Given the description of an element on the screen output the (x, y) to click on. 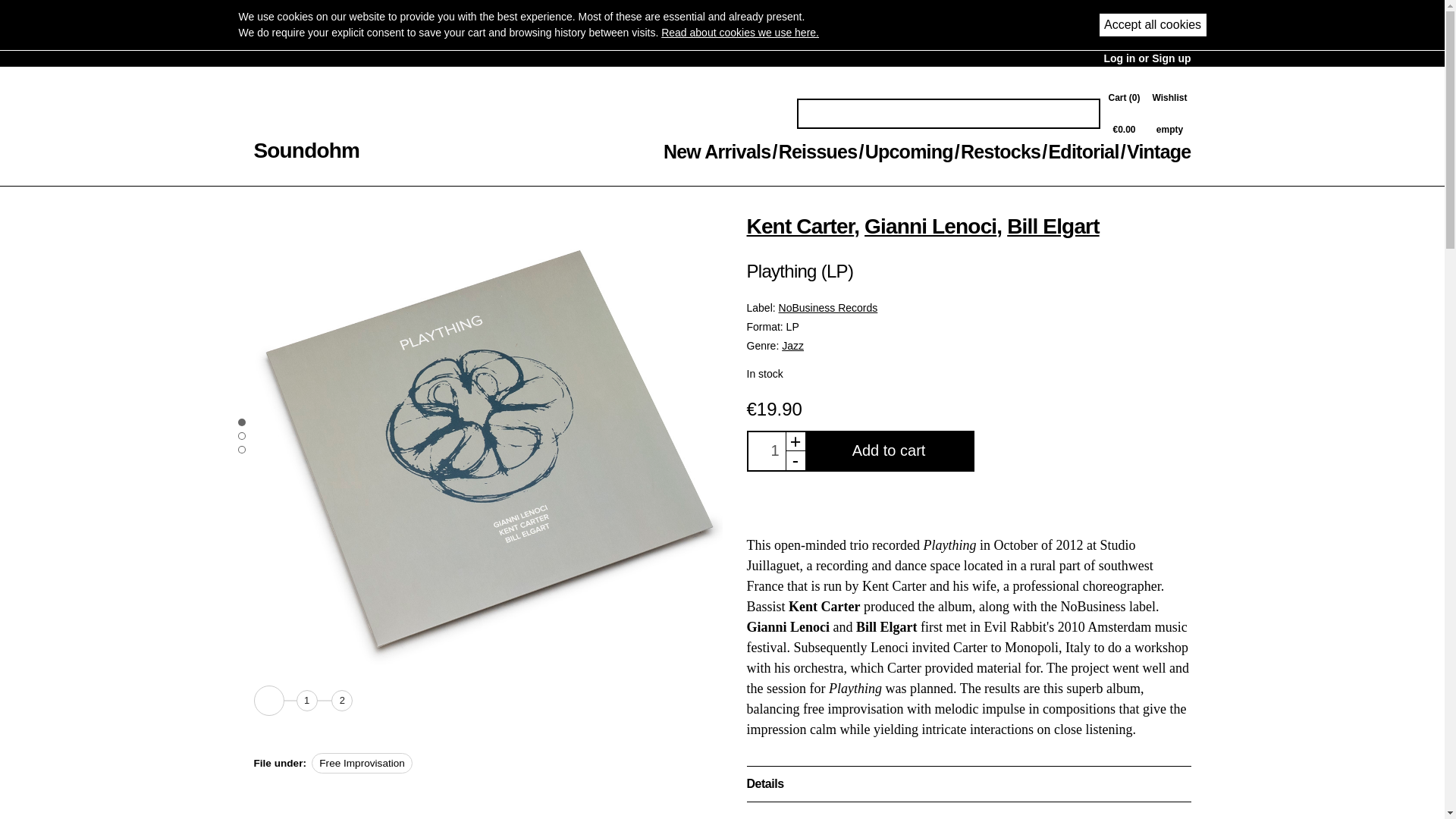
Soundohm (305, 150)
Play excerpts (268, 700)
Editorial (1083, 151)
Log in or Sign up (1146, 58)
New Arrivals (717, 151)
Restocks (1000, 151)
Reissues (1169, 113)
Read about cookies we use here. (817, 151)
Upcoming (739, 32)
